Given the description of an element on the screen output the (x, y) to click on. 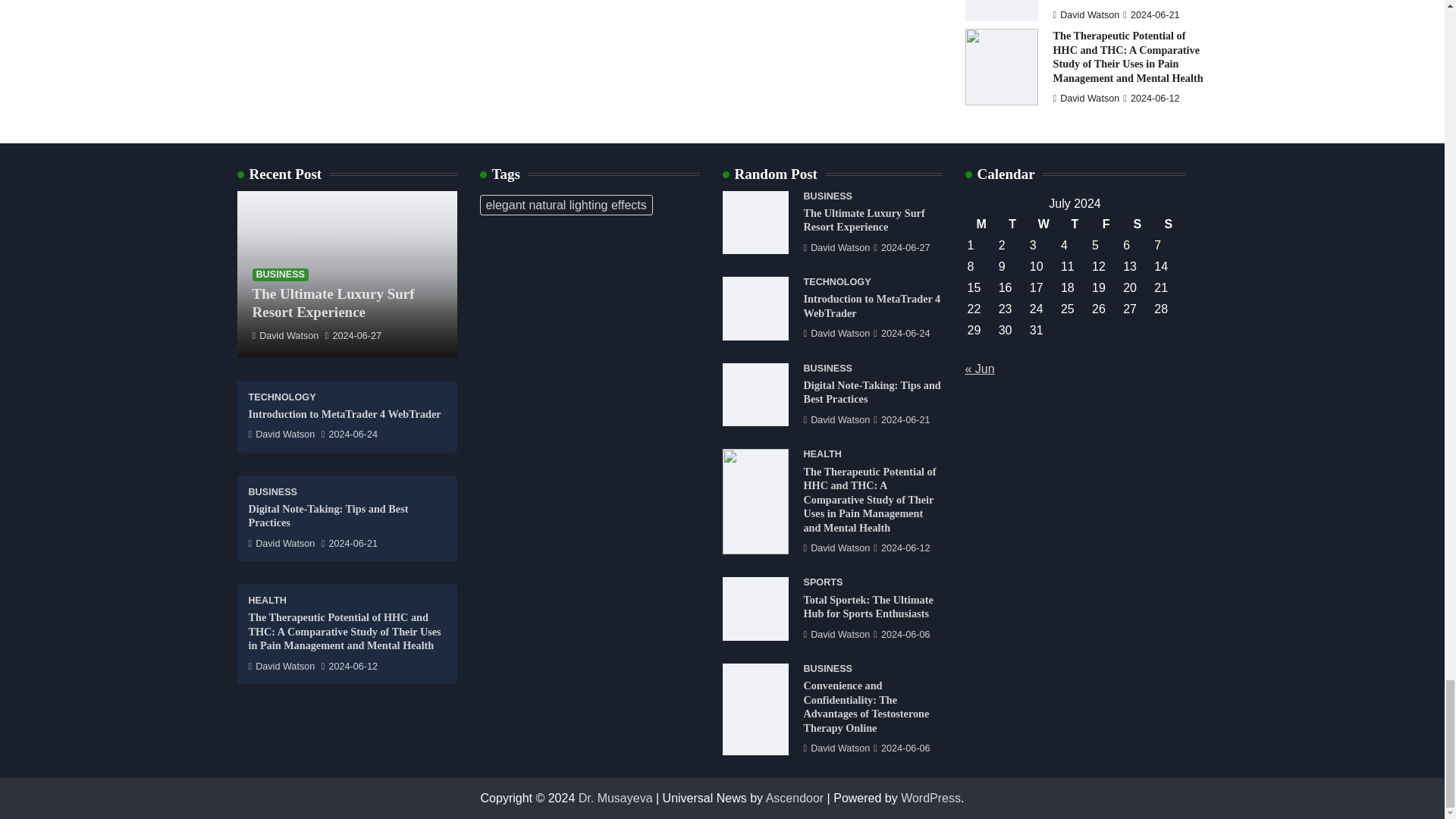
Thursday (1074, 224)
Friday (1105, 224)
Sunday (1167, 224)
Wednesday (1043, 224)
Tuesday (1012, 224)
Saturday (1136, 224)
Monday (980, 224)
